Given the description of an element on the screen output the (x, y) to click on. 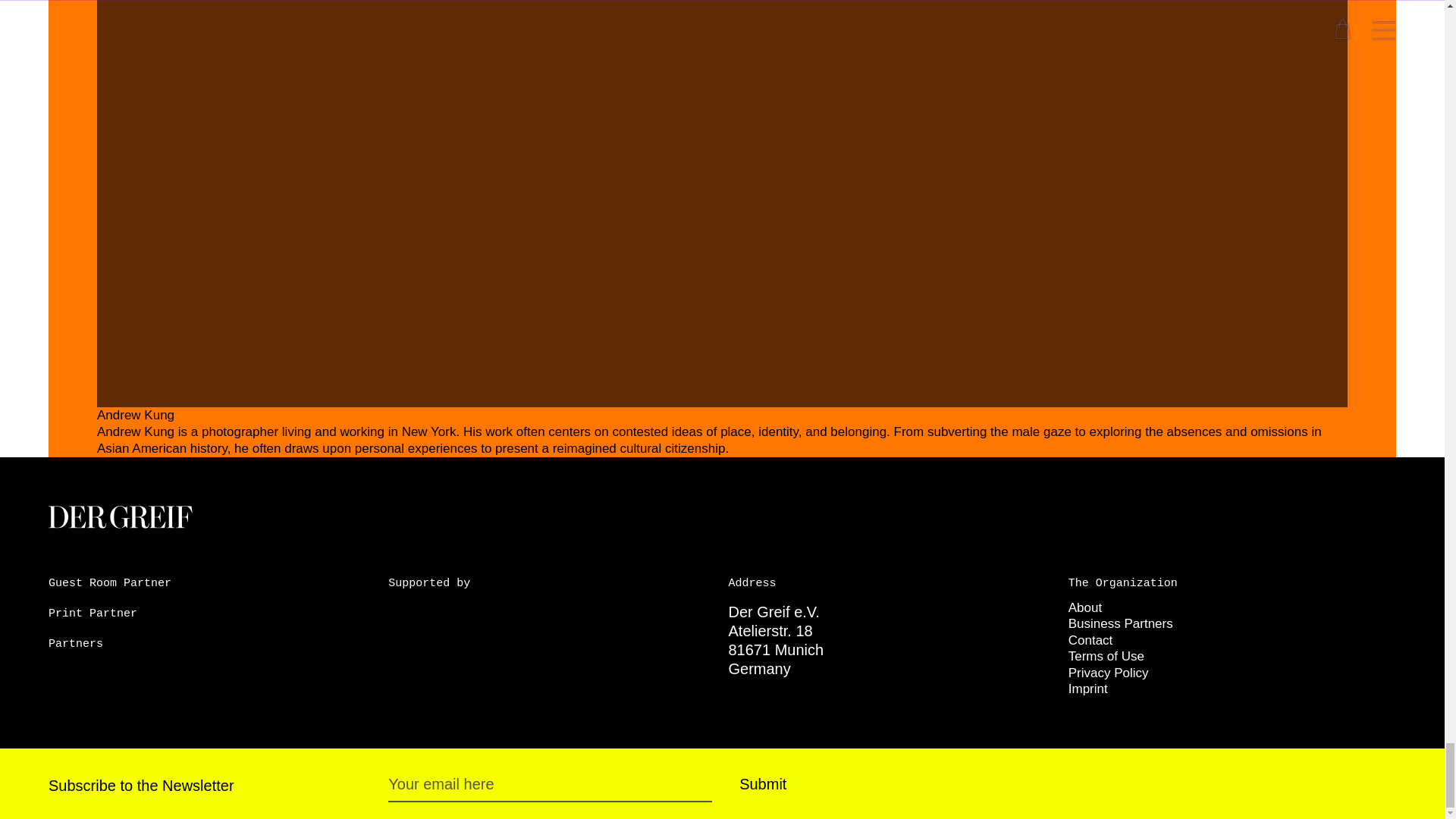
Submit (762, 783)
Business Partners (1120, 623)
Contact (1090, 640)
Privacy Policy (1108, 672)
About (1085, 607)
Terms of Use (1106, 656)
Imprint (1088, 688)
Andrew Kung (135, 414)
